Given the description of an element on the screen output the (x, y) to click on. 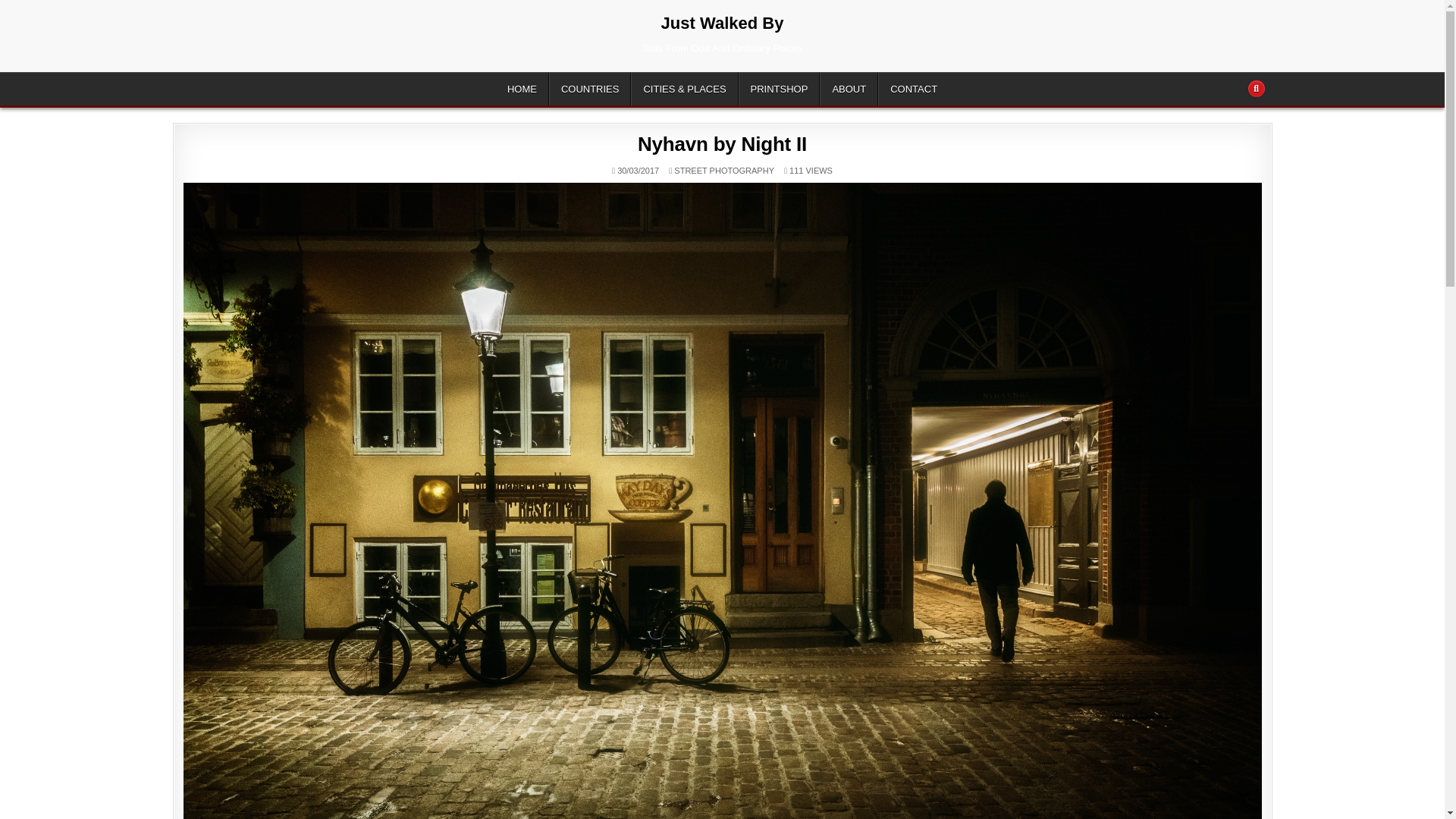
111 Views (793, 171)
COUNTRIES (589, 88)
STREET PHOTOGRAPHY (724, 170)
ABOUT (848, 88)
Just Walked By (722, 22)
HOME (522, 88)
PRINTSHOP (779, 88)
CONTACT (913, 88)
